Given the description of an element on the screen output the (x, y) to click on. 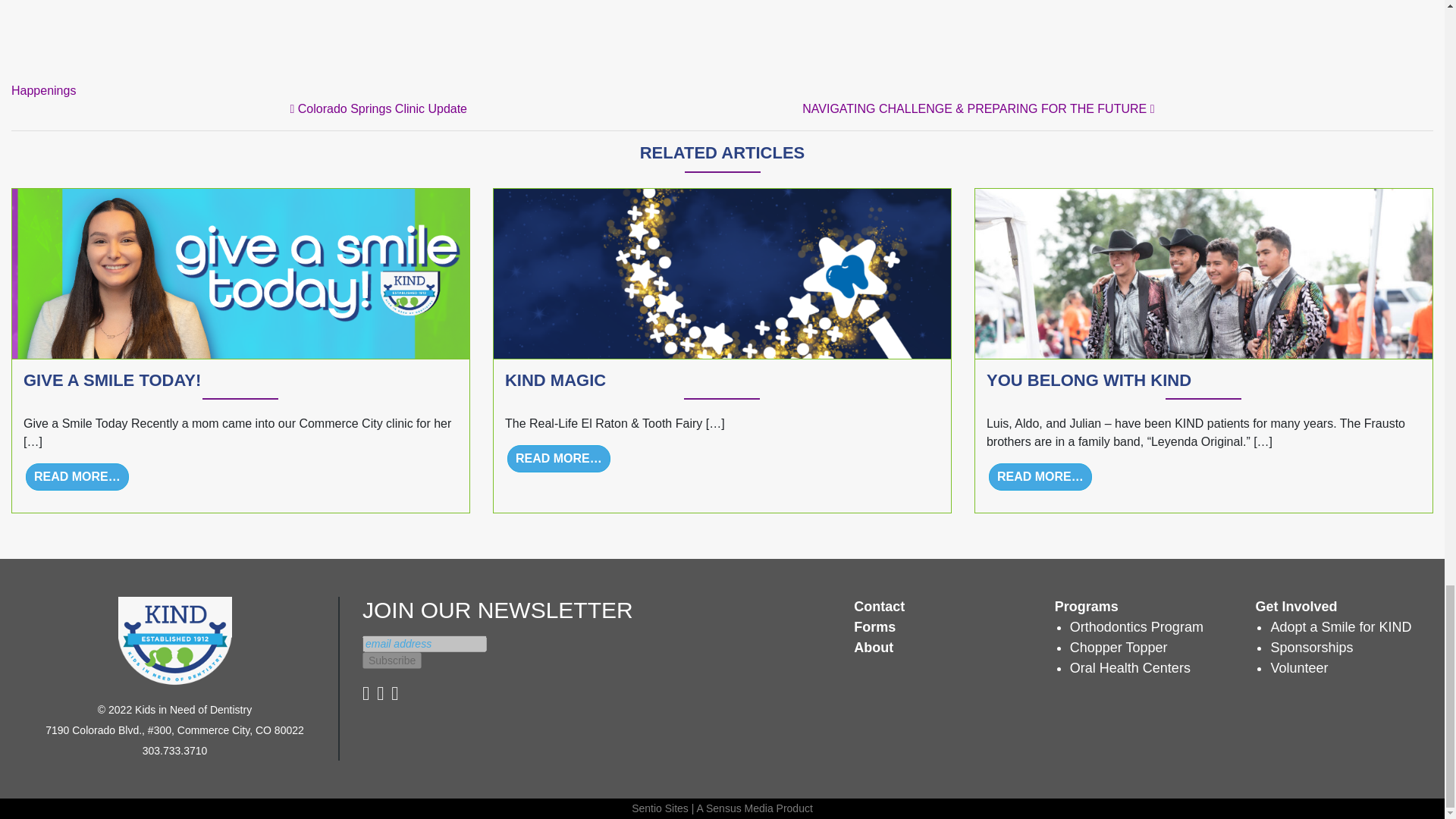
Subscribe (392, 660)
